Given the description of an element on the screen output the (x, y) to click on. 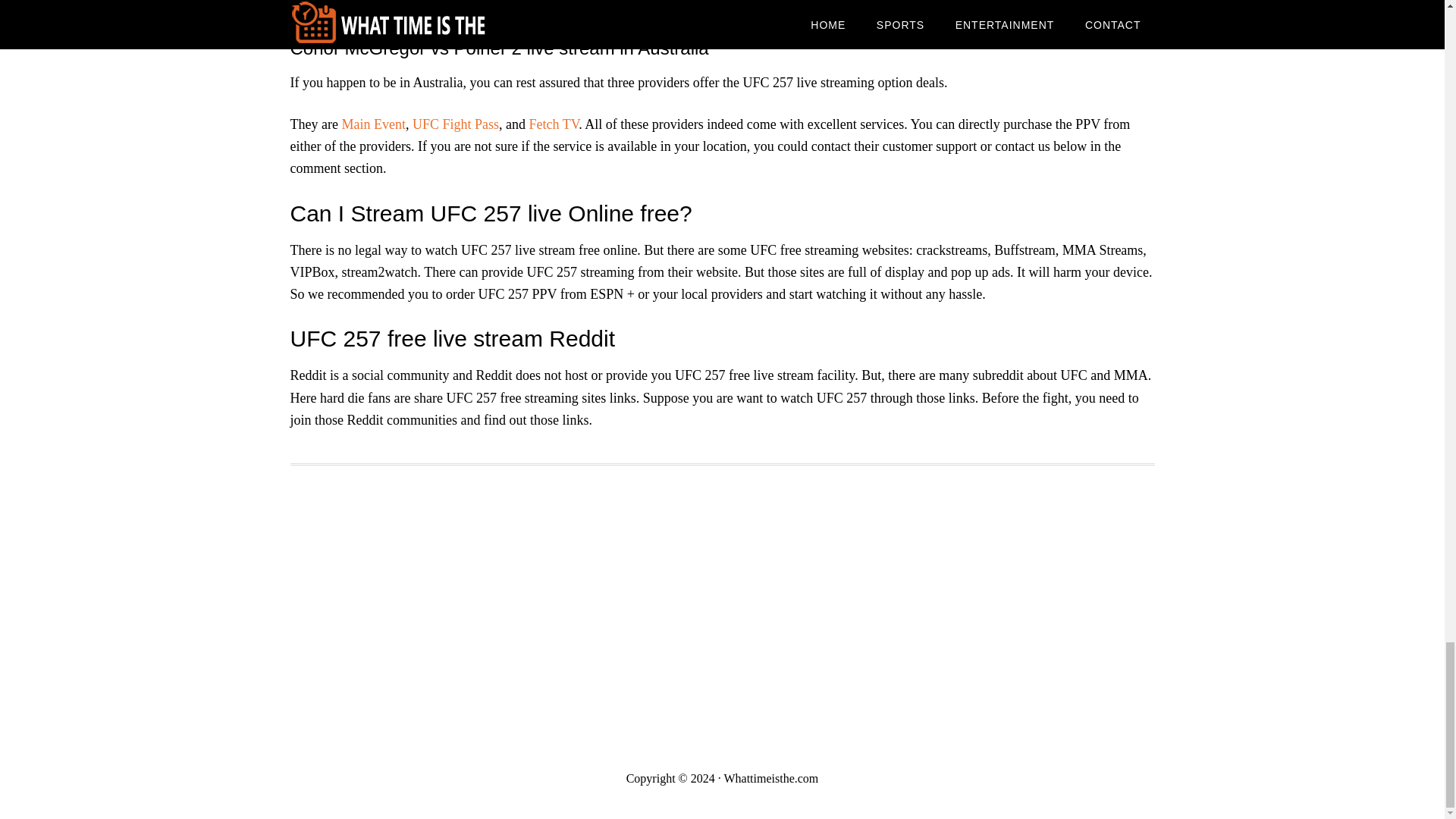
Main Event (372, 124)
UFC Fight Pass (455, 124)
Fetch TV (554, 124)
